Given the description of an element on the screen output the (x, y) to click on. 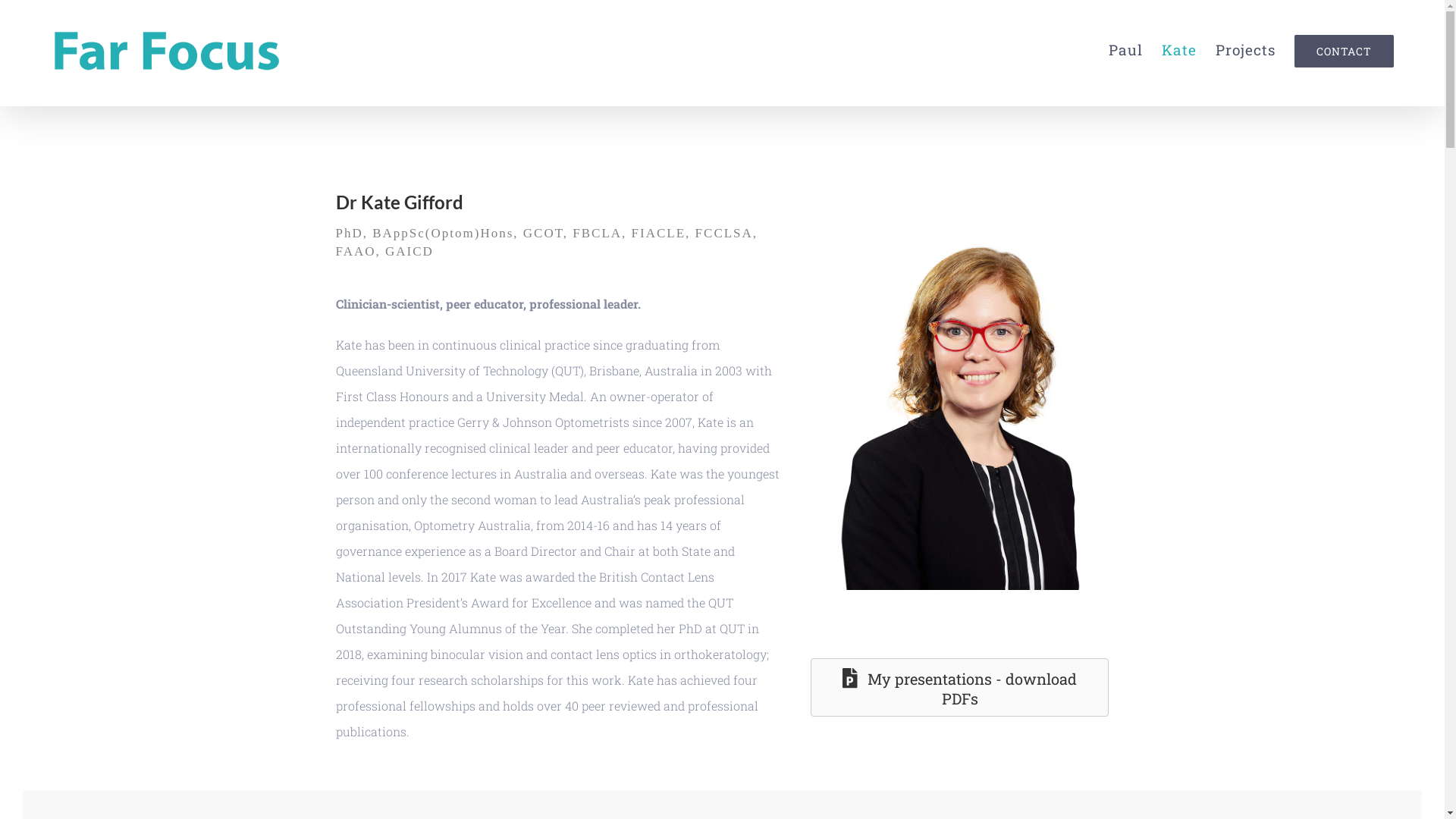
Kate Element type: text (1178, 49)
Projects Element type: text (1245, 49)
My presentations - download PDFs Element type: text (959, 687)
Kate full profile Element type: hover (978, 408)
CONTACT Element type: text (1343, 49)
Paul Element type: text (1125, 49)
